Given the description of an element on the screen output the (x, y) to click on. 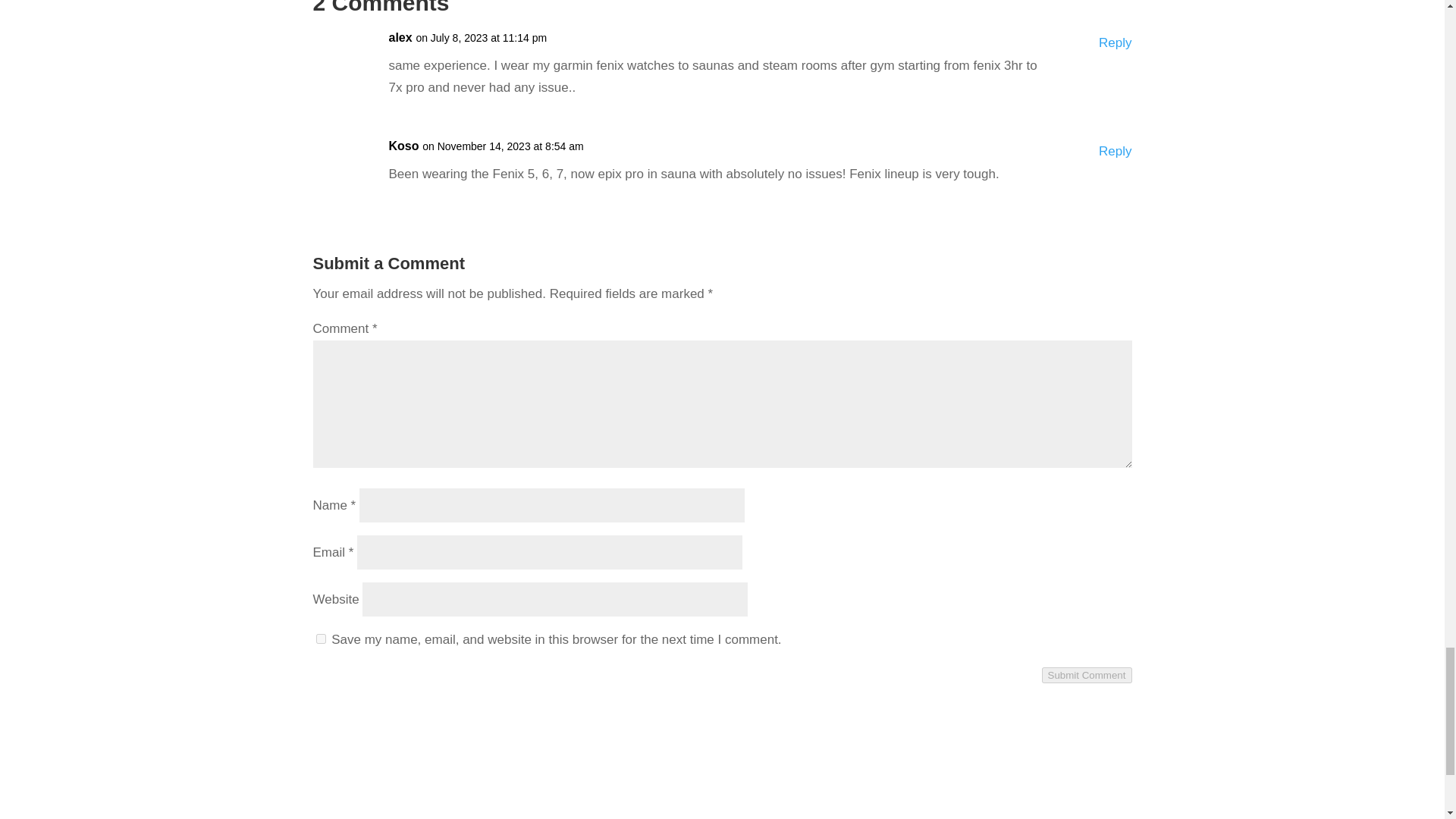
Submit Comment (1087, 675)
Reply (1115, 151)
Follow on Youtube (1088, 776)
Privacy Policy (353, 815)
About Me (340, 796)
yes (319, 638)
Reply (1115, 43)
Follow on X (1118, 776)
Contact (334, 774)
